Given the description of an element on the screen output the (x, y) to click on. 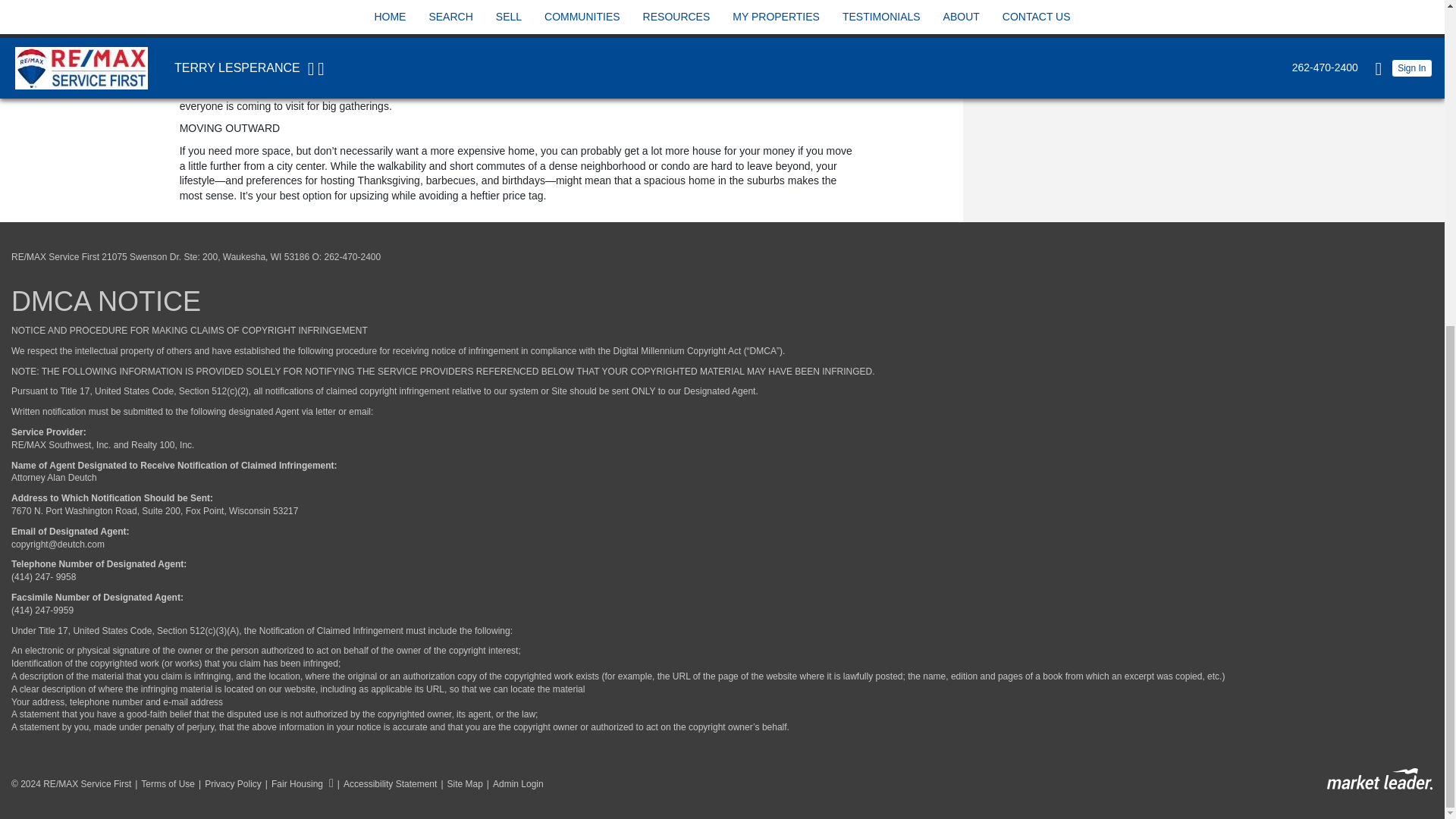
262-470-2400 (351, 256)
Accessibility Statement (385, 784)
Privacy Policy (228, 784)
Powered By Market Leader (1379, 779)
Terms of Use (163, 784)
Fair Housing (297, 784)
